Given the description of an element on the screen output the (x, y) to click on. 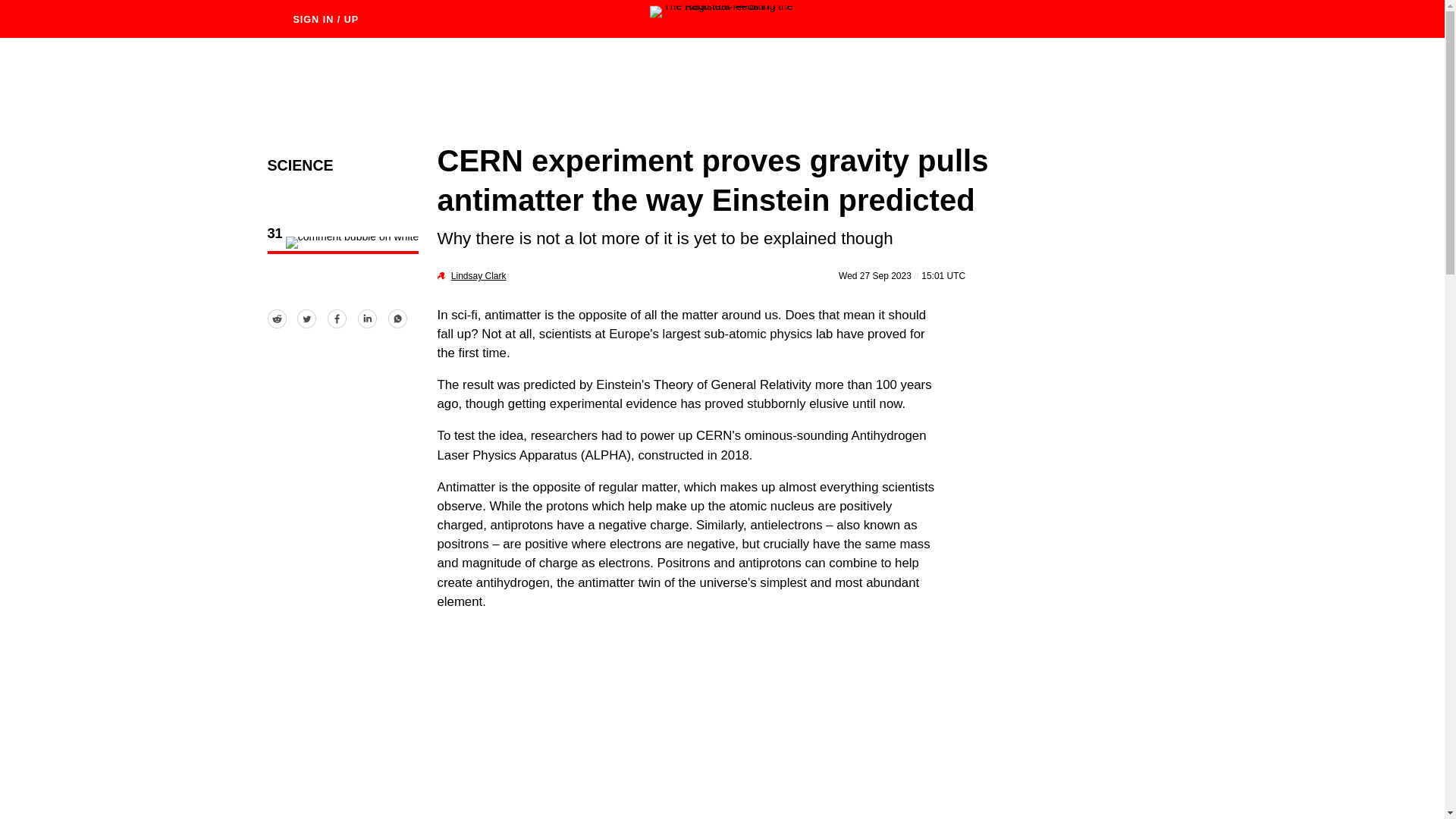
Read more by this author (478, 276)
Log in (313, 18)
View comments on this article (342, 243)
